Given the description of an element on the screen output the (x, y) to click on. 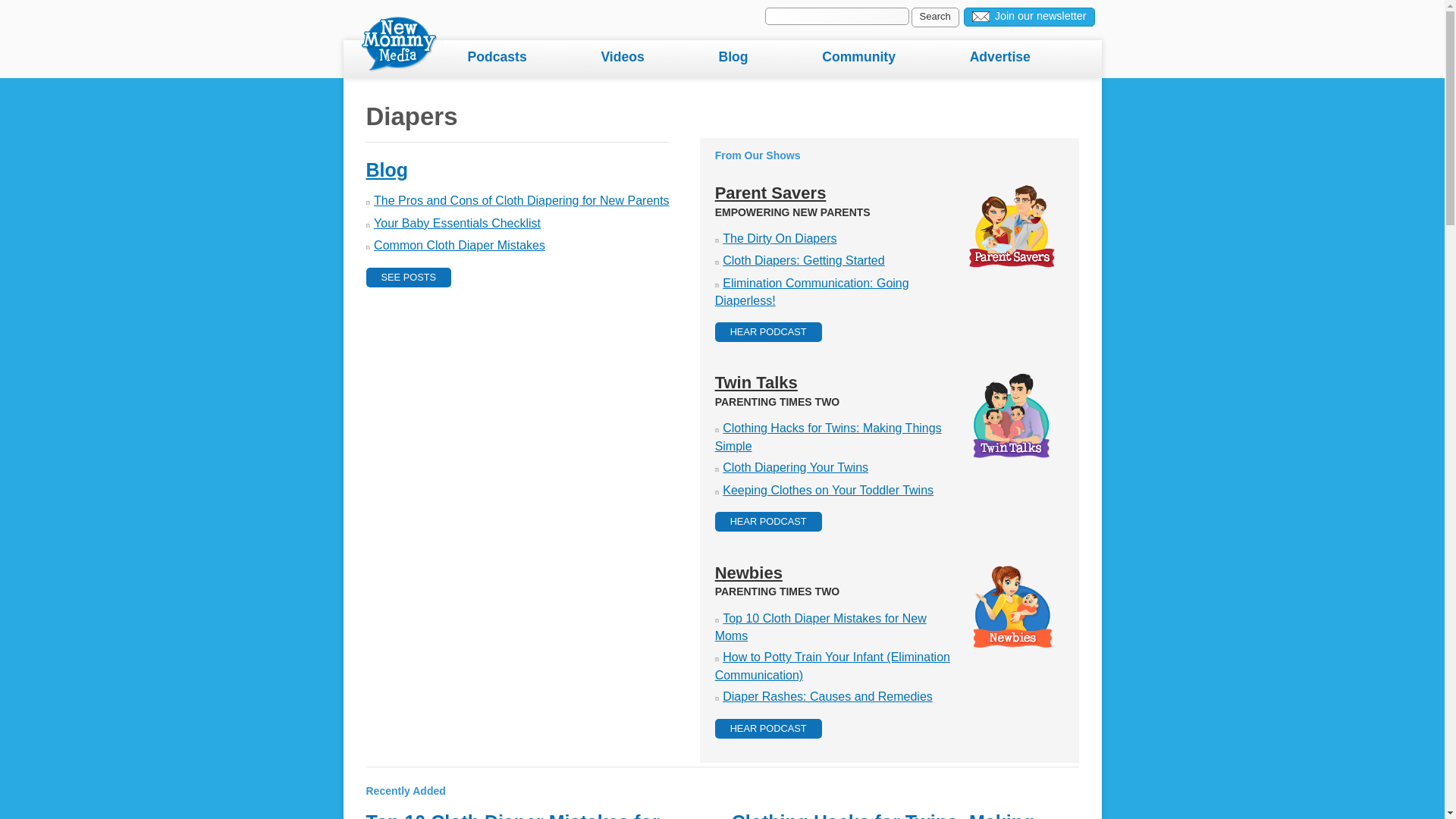
Advertise (1034, 57)
Diaper Rashes: Causes and Remedies (827, 696)
Cloth Diapers: Getting Started (802, 259)
Search (935, 17)
Podcasts (530, 57)
Blog (766, 57)
The Pros and Cons of Cloth Diapering for New Parents (521, 200)
Top 10 Cloth Diaper Mistakes for New Moms (512, 815)
Top 10 Cloth Diaper Mistakes for New Moms (512, 815)
Newbies (748, 572)
